Given the description of an element on the screen output the (x, y) to click on. 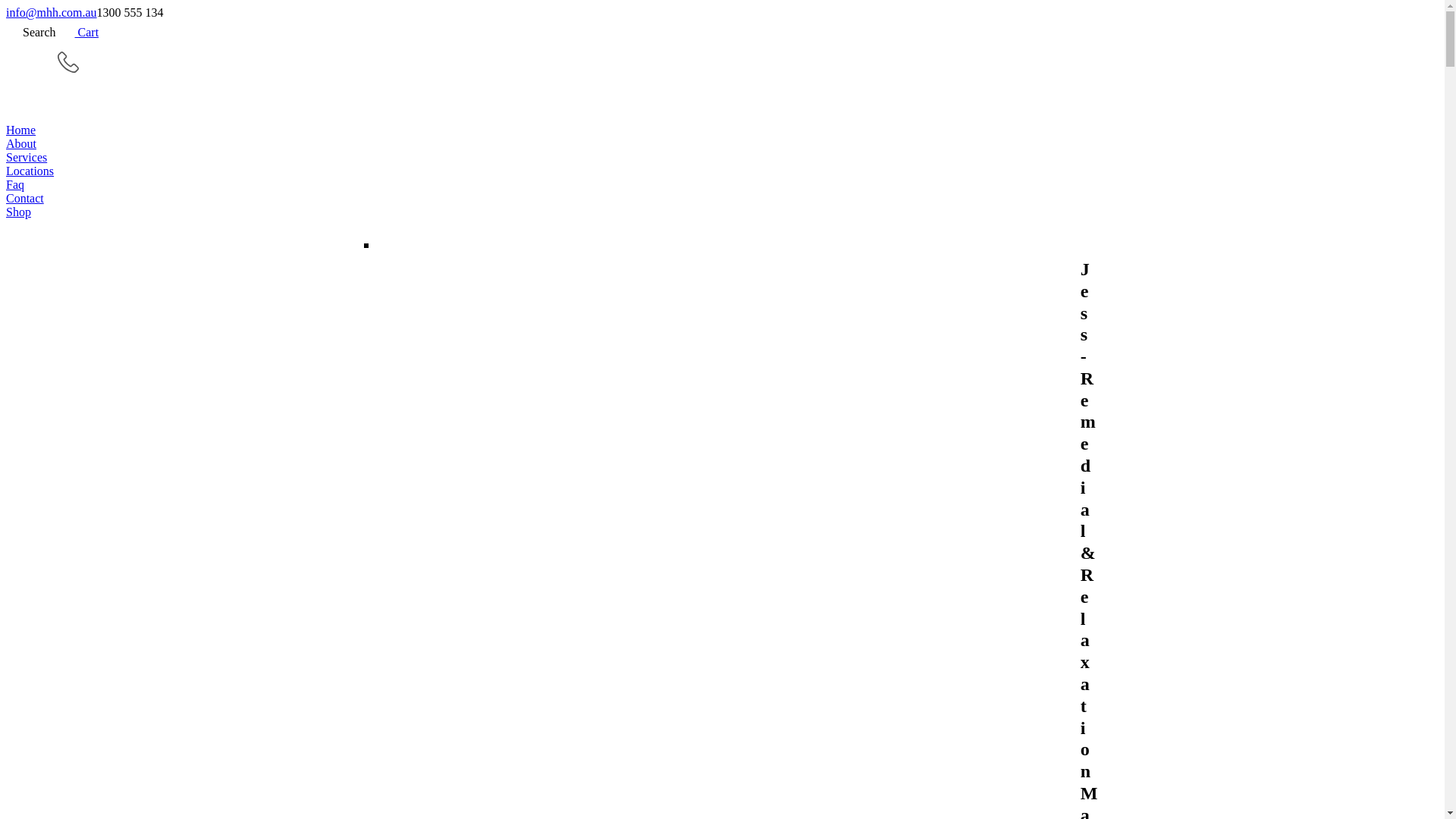
Cart Element type: text (77, 31)
Contact Element type: text (722, 198)
info@mhh.com.au Element type: text (51, 12)
Services Element type: text (722, 157)
Faq Element type: text (722, 184)
Locations Element type: text (722, 171)
About Element type: text (722, 143)
Home Element type: text (722, 130)
Shop Element type: text (722, 212)
Search Element type: text (31, 31)
